Given the description of an element on the screen output the (x, y) to click on. 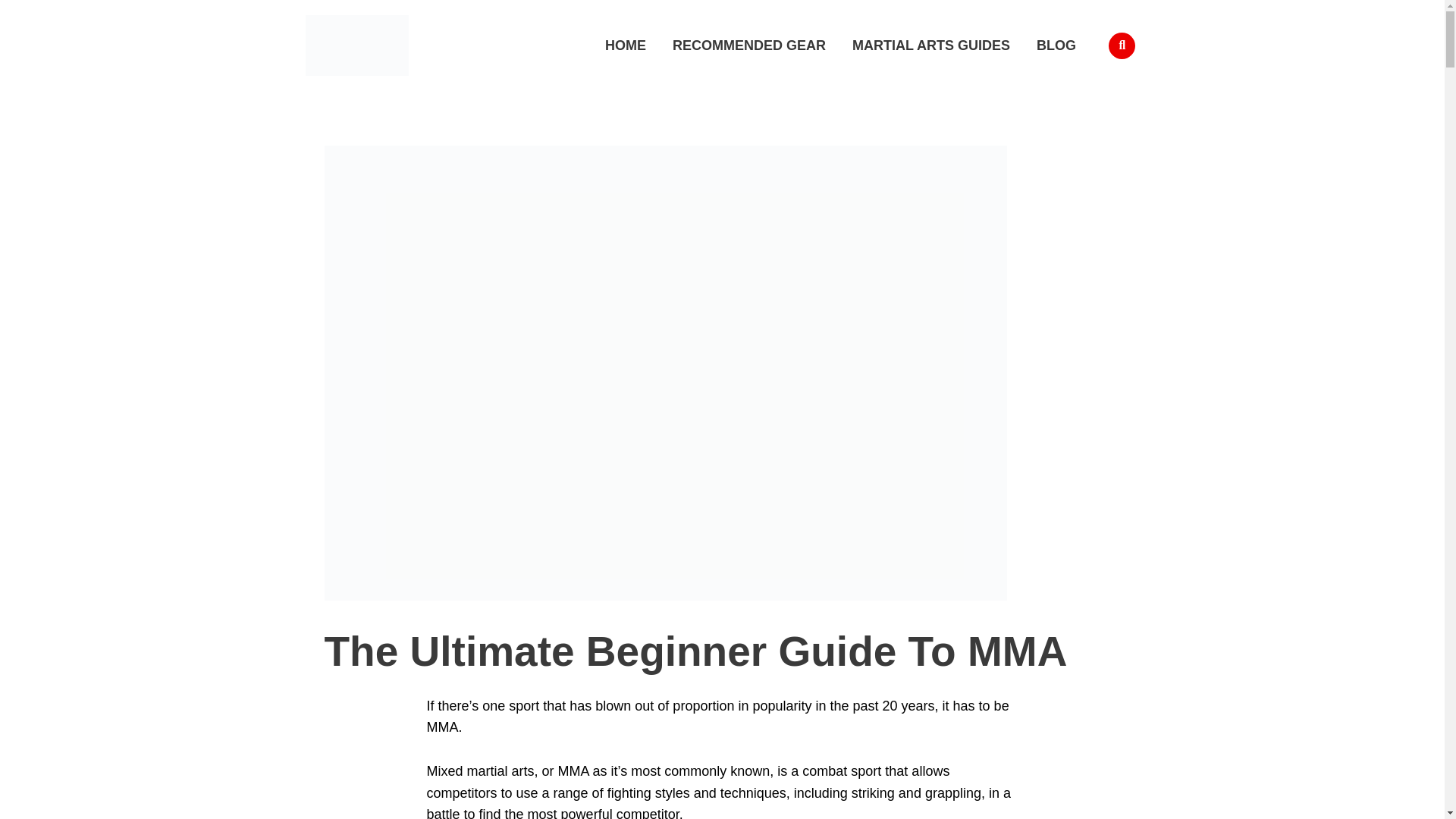
BLOG (1055, 45)
HOME (625, 45)
RECOMMENDED GEAR (748, 45)
MARTIAL ARTS GUIDES (930, 45)
